Given the description of an element on the screen output the (x, y) to click on. 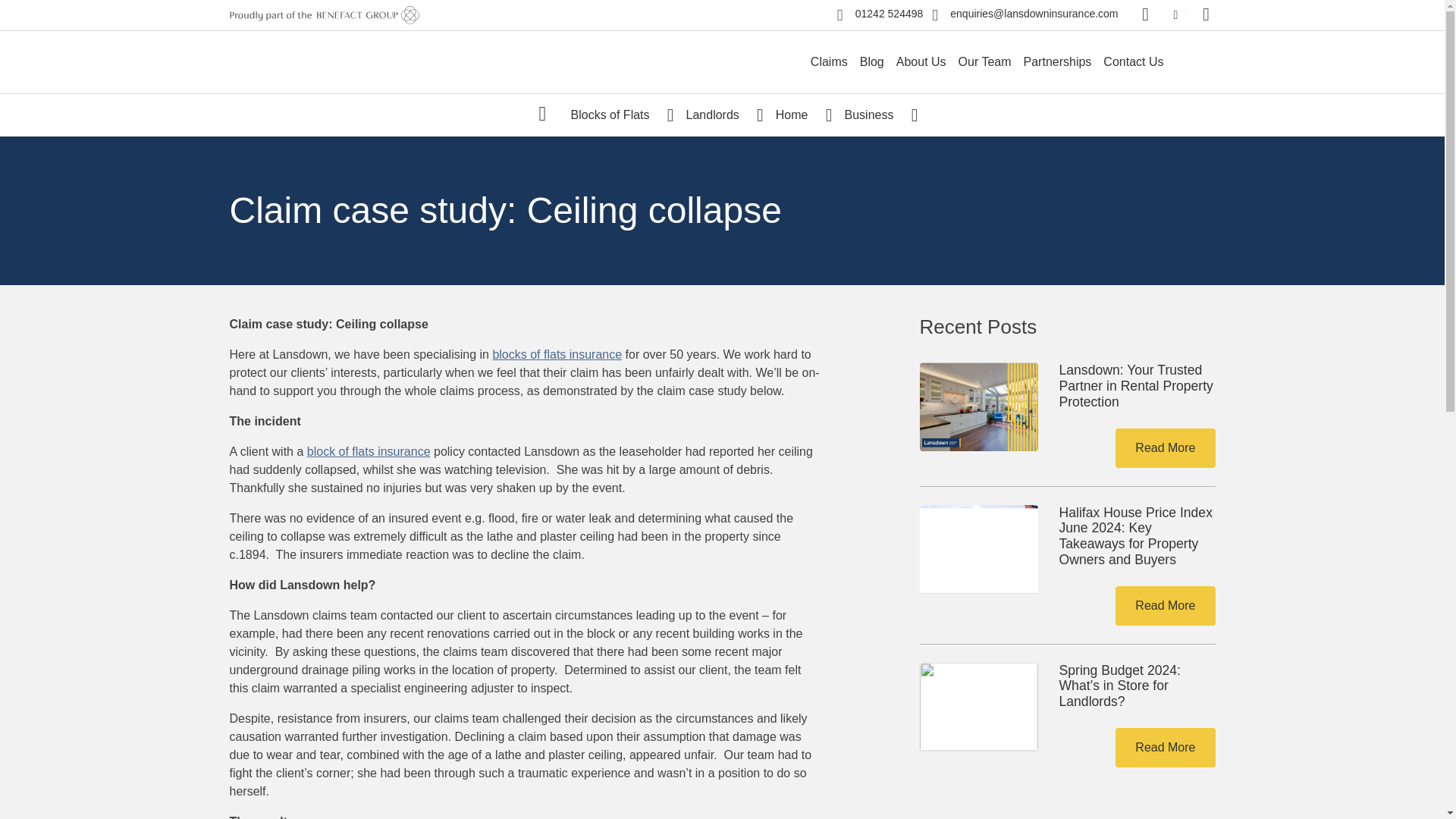
Partnerships (1057, 61)
About Us (920, 61)
Claims (829, 61)
Home (797, 115)
Search (1197, 61)
Blocks of Flats (614, 115)
Facebook (1144, 14)
Search (1155, 61)
Blog (871, 61)
Our Team (984, 61)
LinkedIn (1205, 14)
Contact Us (1133, 61)
Landlords (718, 115)
Twitter (1175, 14)
Home (543, 115)
